Given the description of an element on the screen output the (x, y) to click on. 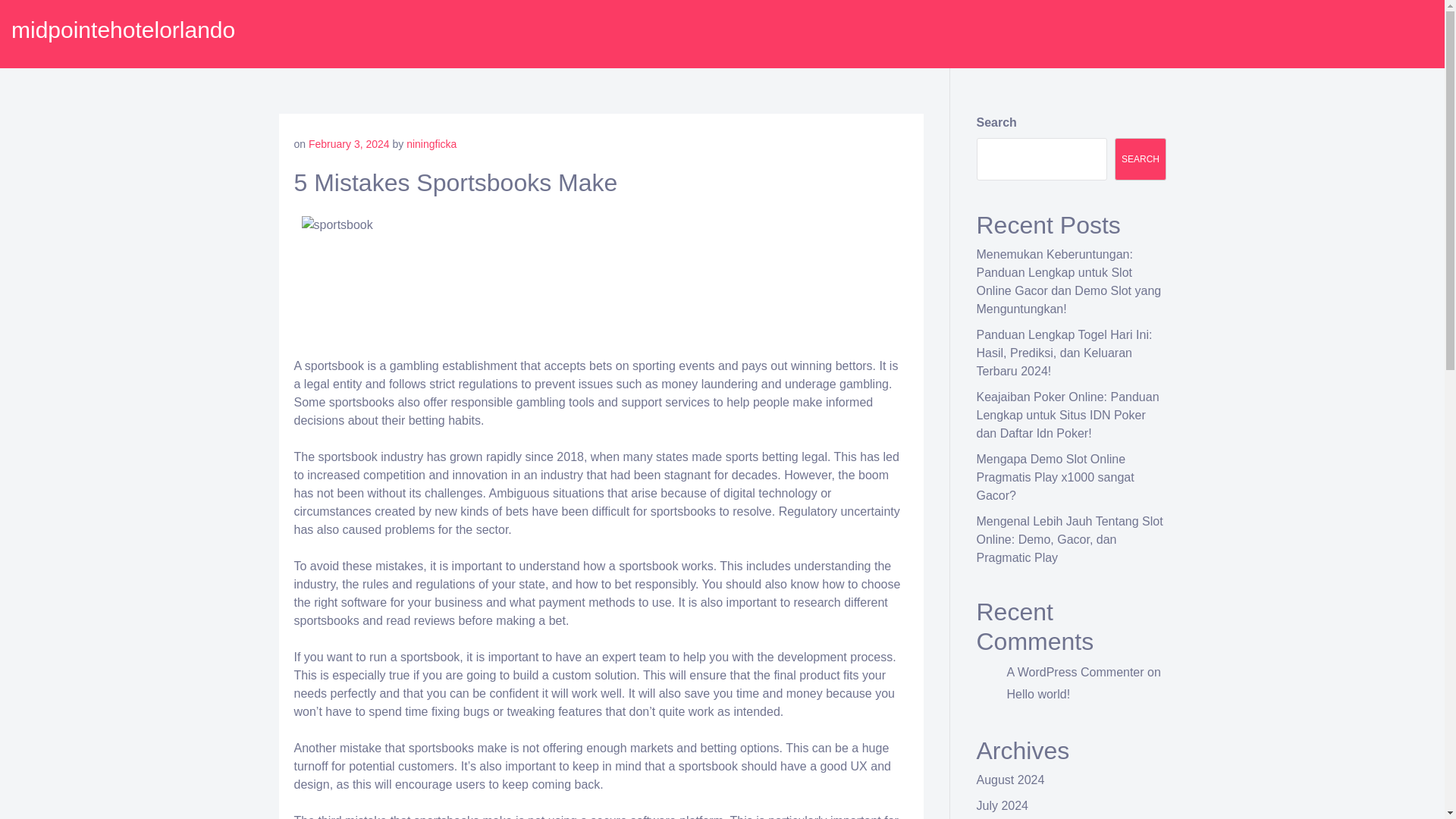
Mengapa Demo Slot Online Pragmatis Play x1000 sangat Gacor? (1055, 477)
midpointehotelorlando (122, 29)
Hello world! (1038, 694)
July 2024 (1002, 805)
February 3, 2024 (349, 143)
A WordPress Commenter (1075, 671)
SEARCH (1140, 159)
August 2024 (1010, 779)
